Given the description of an element on the screen output the (x, y) to click on. 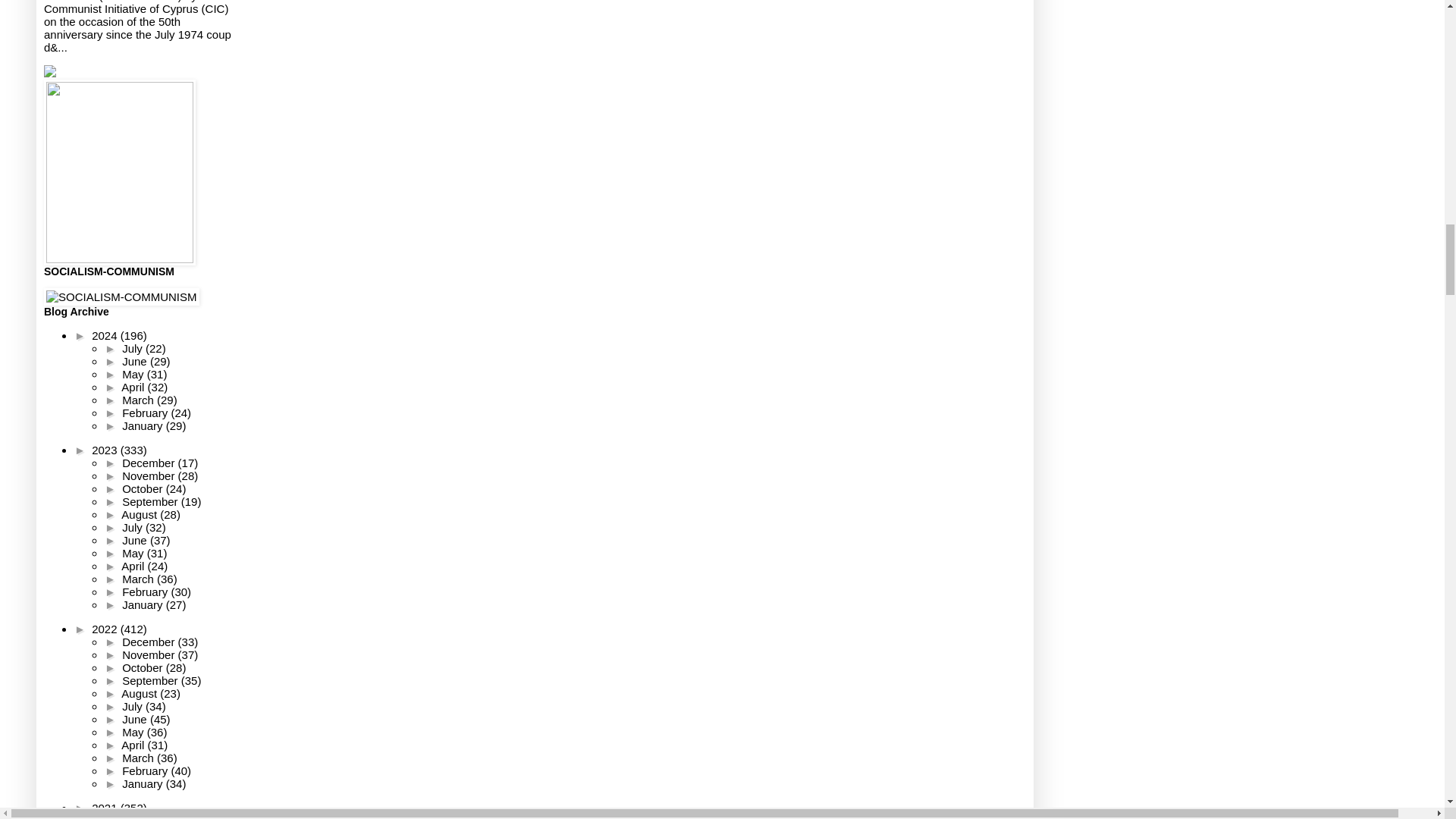
May (134, 373)
July (133, 348)
April (133, 386)
2024 (105, 335)
March (139, 399)
June (135, 360)
